Given the description of an element on the screen output the (x, y) to click on. 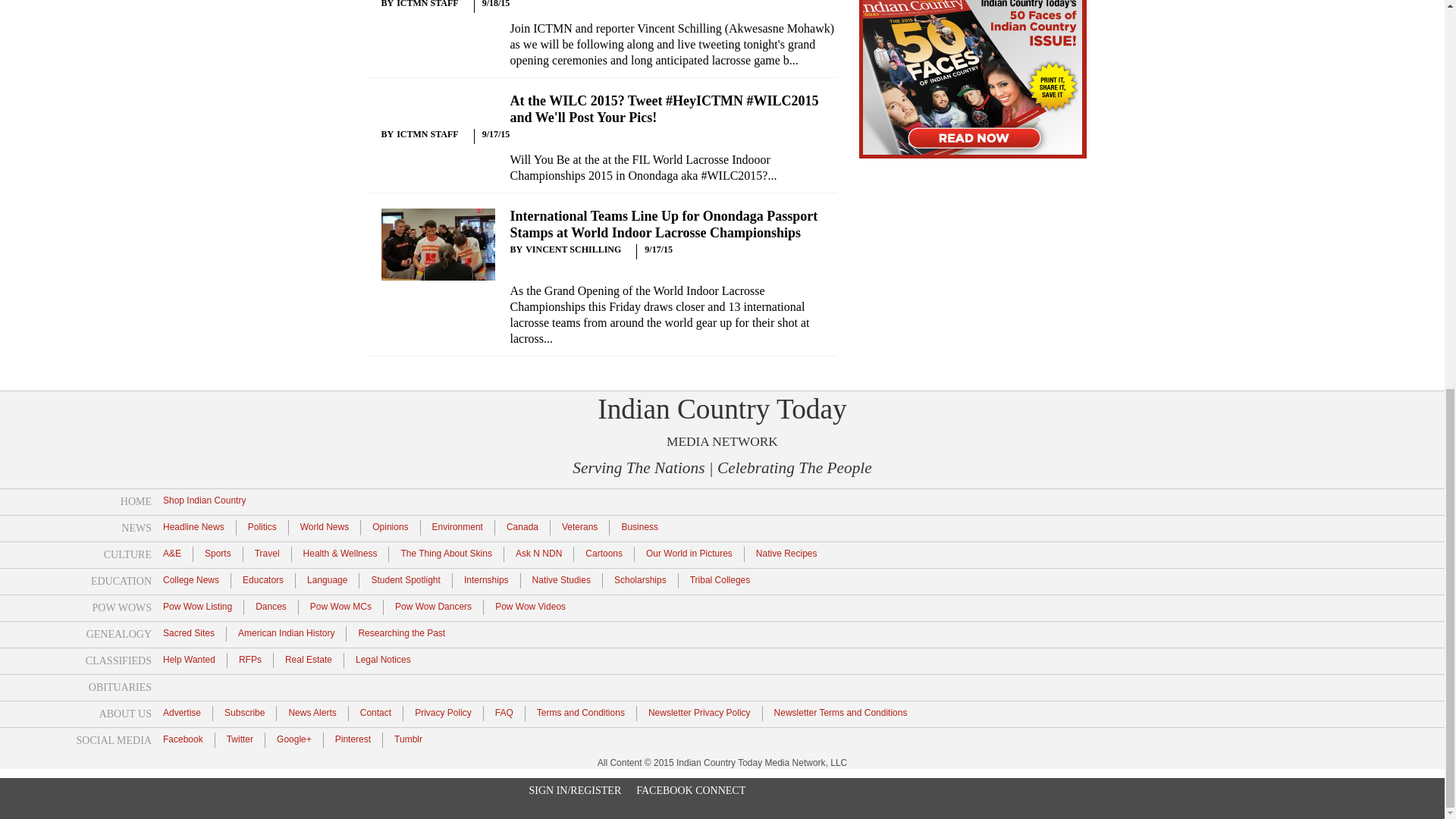
Privacy Policy (442, 712)
Login Using Facebok (690, 51)
Terms and Conditions (580, 712)
